Given the description of an element on the screen output the (x, y) to click on. 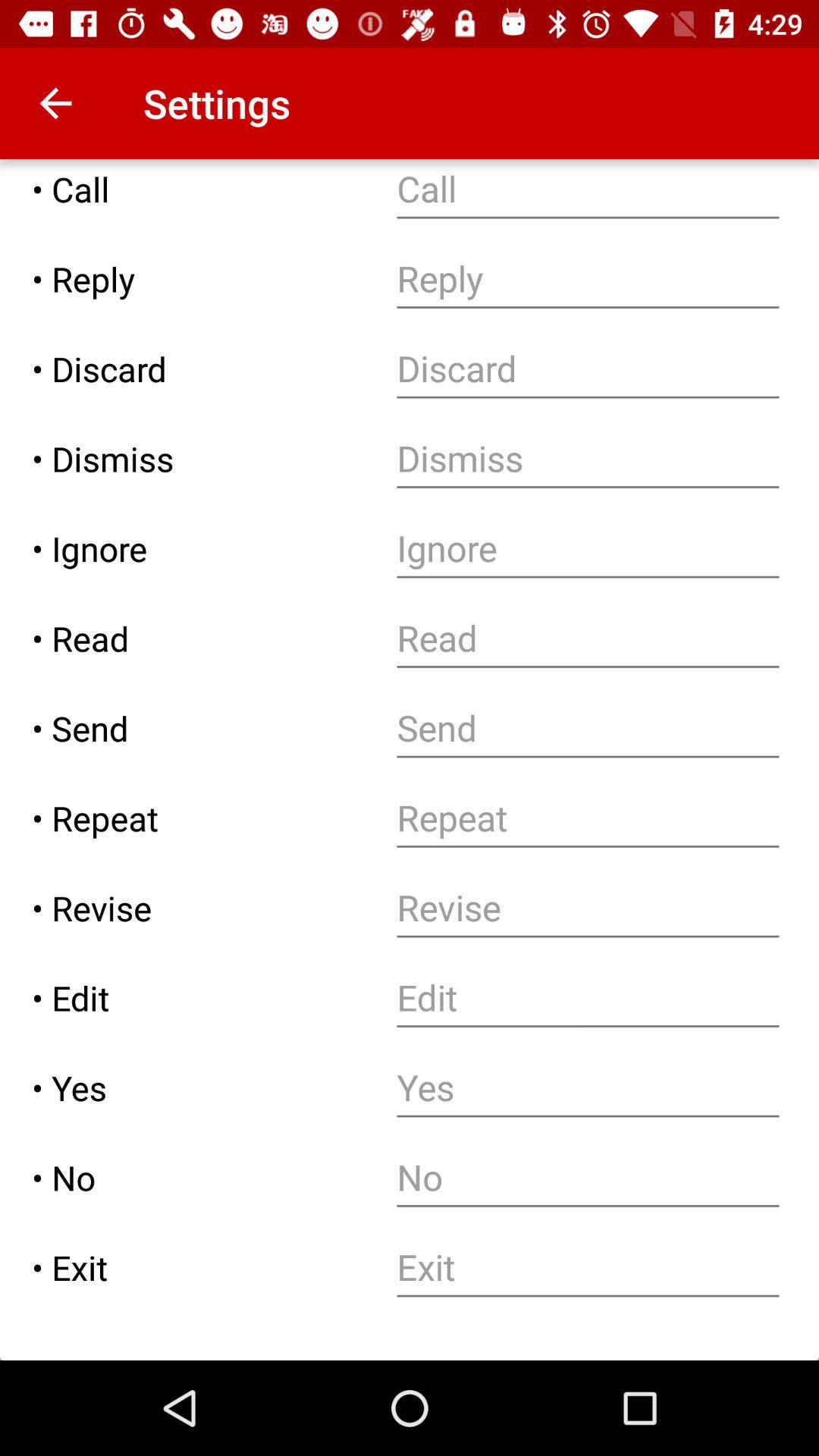
ignore the person or item (588, 548)
